Given the description of an element on the screen output the (x, y) to click on. 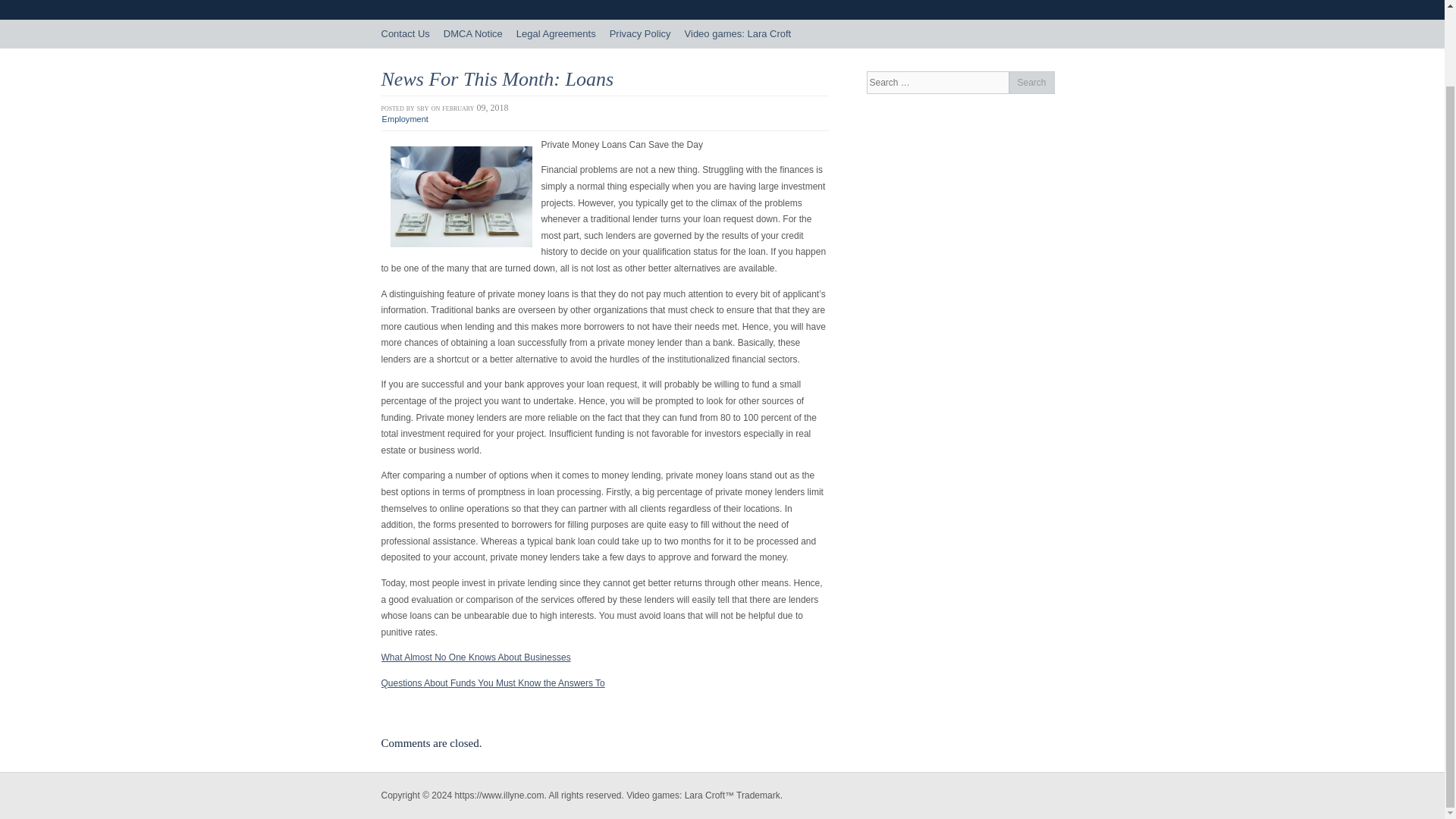
Employment (404, 118)
Video games: Lara Croft (738, 33)
Questions About Funds You Must Know the Answers To (492, 683)
DMCA Notice (473, 33)
Search (1031, 82)
News For This Month: Loans (496, 78)
What Almost No One Knows About Businesses (475, 656)
Search (1031, 82)
Contact Us (404, 33)
Search (1031, 82)
Legal Agreements (555, 33)
Privacy Policy (640, 33)
